Given the description of an element on the screen output the (x, y) to click on. 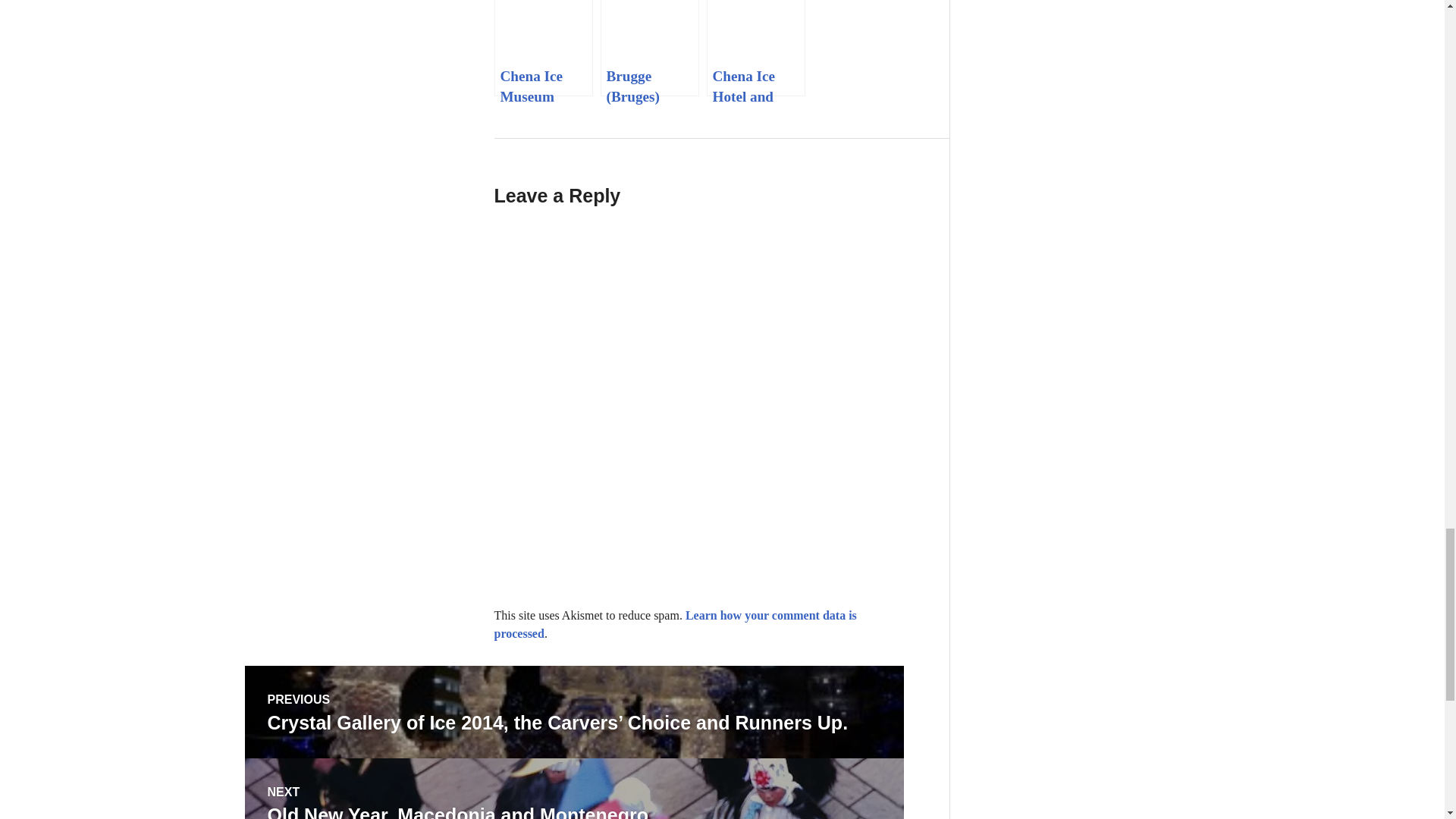
Chena Ice Museum (543, 48)
Chena Ice Hotel and Museum, Chena Hot Springs, Alaska (755, 48)
